Given the description of an element on the screen output the (x, y) to click on. 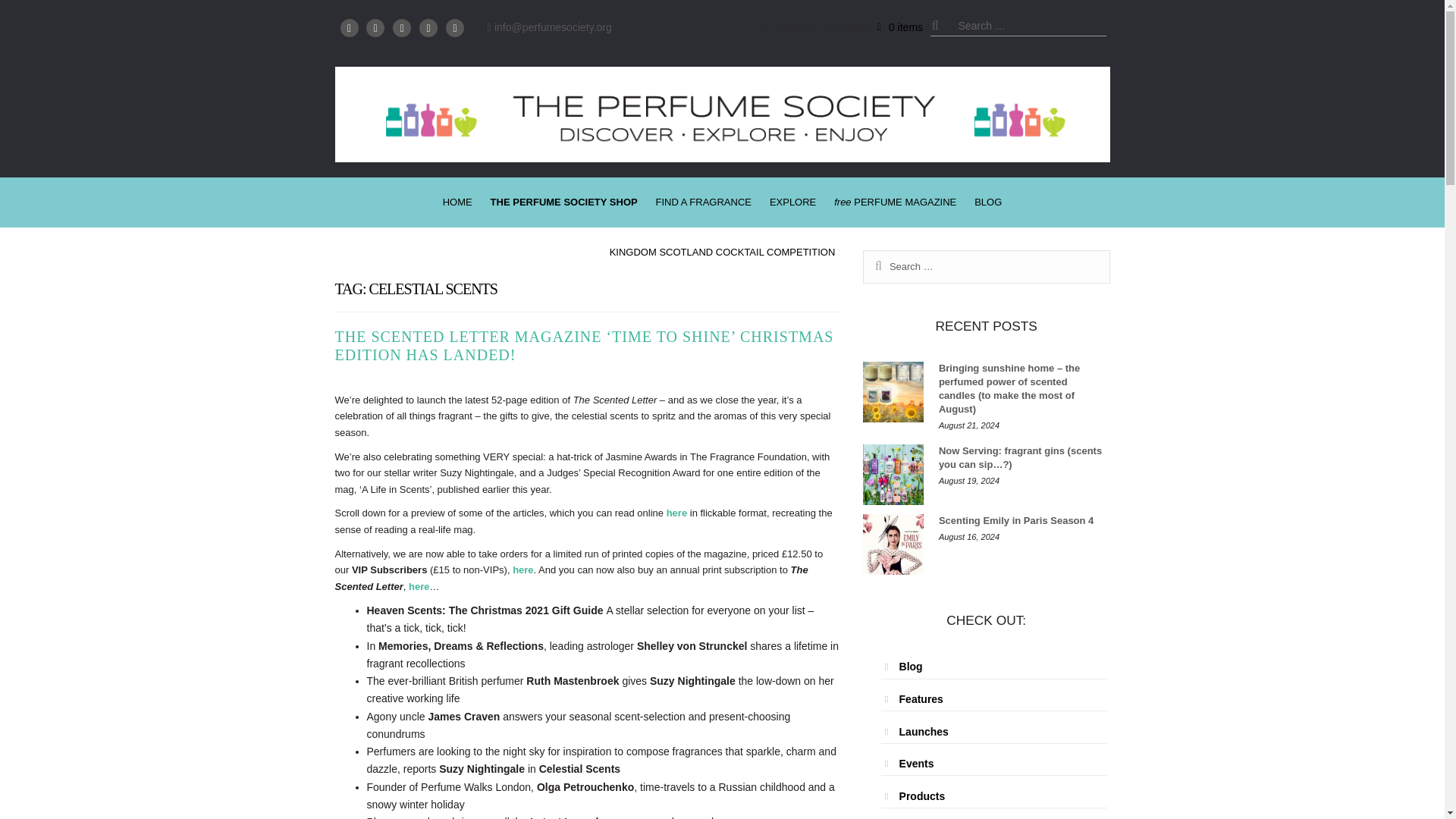
Scenting Emily in Paris Season 4 (893, 544)
0 items (900, 27)
Login (784, 27)
Checkout (840, 27)
THE PERFUME SOCIETY SHOP (563, 201)
View your shopping basket (900, 27)
